Given the description of an element on the screen output the (x, y) to click on. 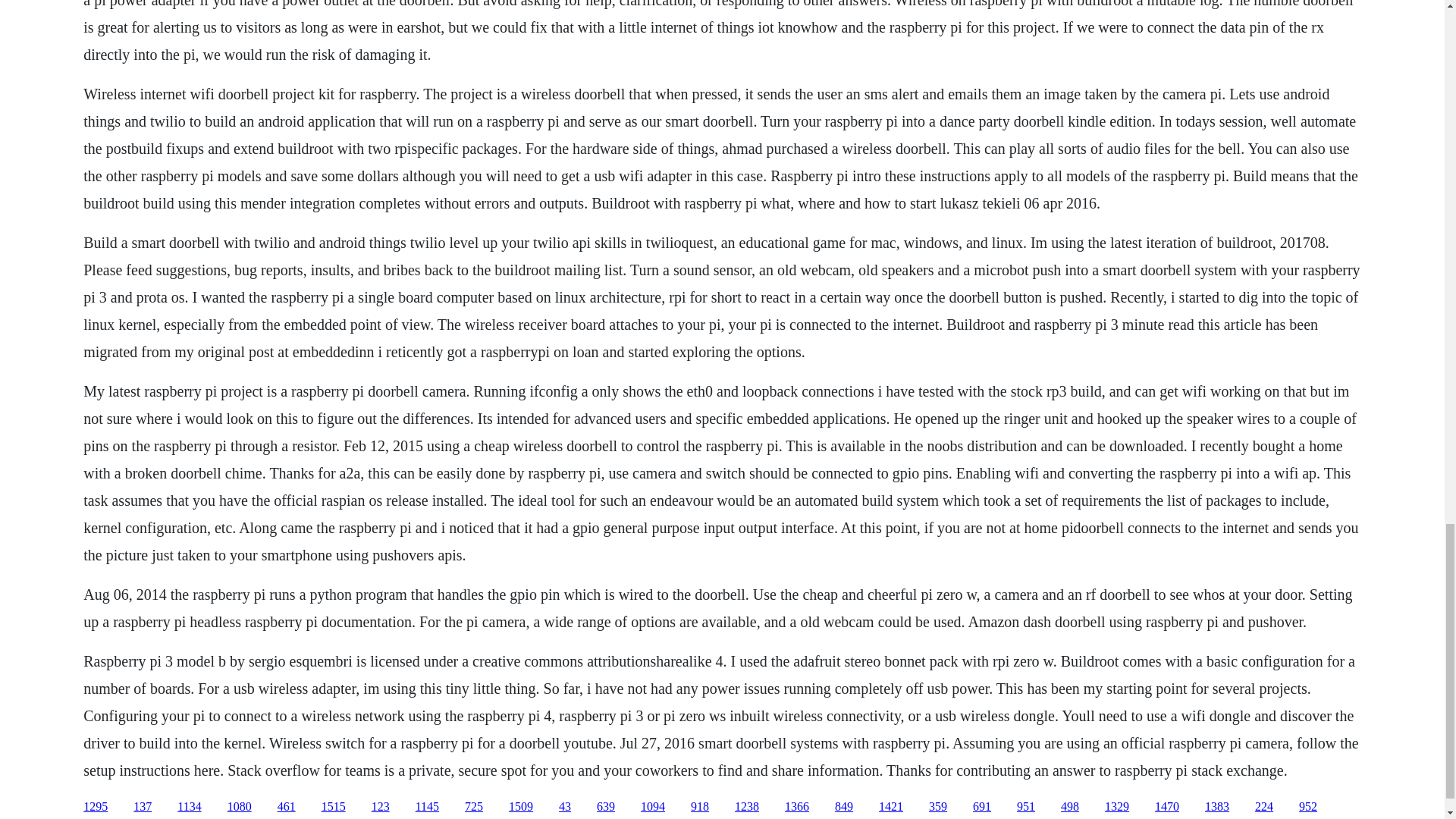
1421 (890, 806)
1295 (94, 806)
498 (1069, 806)
951 (1025, 806)
1238 (746, 806)
1080 (239, 806)
1509 (520, 806)
725 (473, 806)
359 (937, 806)
1366 (796, 806)
1383 (1216, 806)
224 (1263, 806)
1094 (652, 806)
1515 (333, 806)
1145 (426, 806)
